Given the description of an element on the screen output the (x, y) to click on. 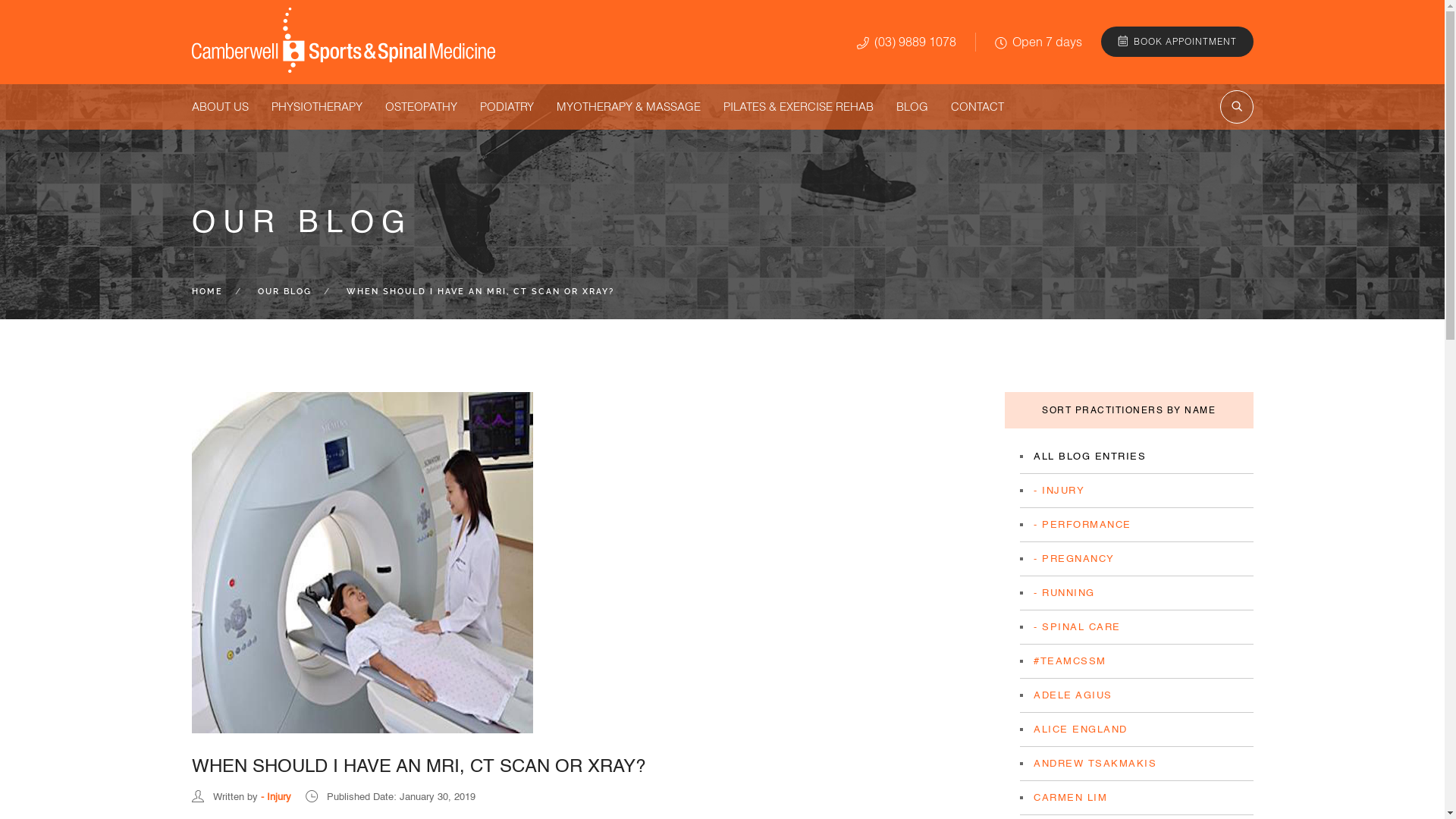
CONTACT Element type: text (977, 106)
ALICE ENGLAND Element type: text (1080, 728)
(03) 9889 1078 Element type: text (906, 41)
ABOUT US Element type: text (219, 106)
BOOK APPOINTMENT Element type: text (1177, 41)
ALL BLOG ENTRIES Element type: text (1089, 455)
CARMEN LIM Element type: text (1070, 797)
MYOTHERAPY & MASSAGE Element type: text (628, 106)
- Injury Element type: text (275, 796)
PODIATRY Element type: text (506, 106)
PHYSIOTHERAPY Element type: text (316, 106)
ADELE AGIUS Element type: text (1072, 694)
- PREGNANCY Element type: text (1073, 558)
- SPINAL CARE Element type: text (1076, 626)
- RUNNING Element type: text (1064, 592)
BLOG Element type: text (912, 106)
ANDREW TSAKMAKIS Element type: text (1094, 762)
OSTEOPATHY Element type: text (421, 106)
WHEN SHOULD I HAVE AN MRI, CT SCAN OR XRAY? Element type: text (417, 766)
PILATES & EXERCISE REHAB Element type: text (798, 106)
#TEAMCSSM Element type: text (1069, 660)
HOME Element type: text (206, 291)
- INJURY Element type: text (1058, 489)
- PERFORMANCE Element type: text (1082, 524)
OUR BLOG Element type: text (284, 291)
